Given the description of an element on the screen output the (x, y) to click on. 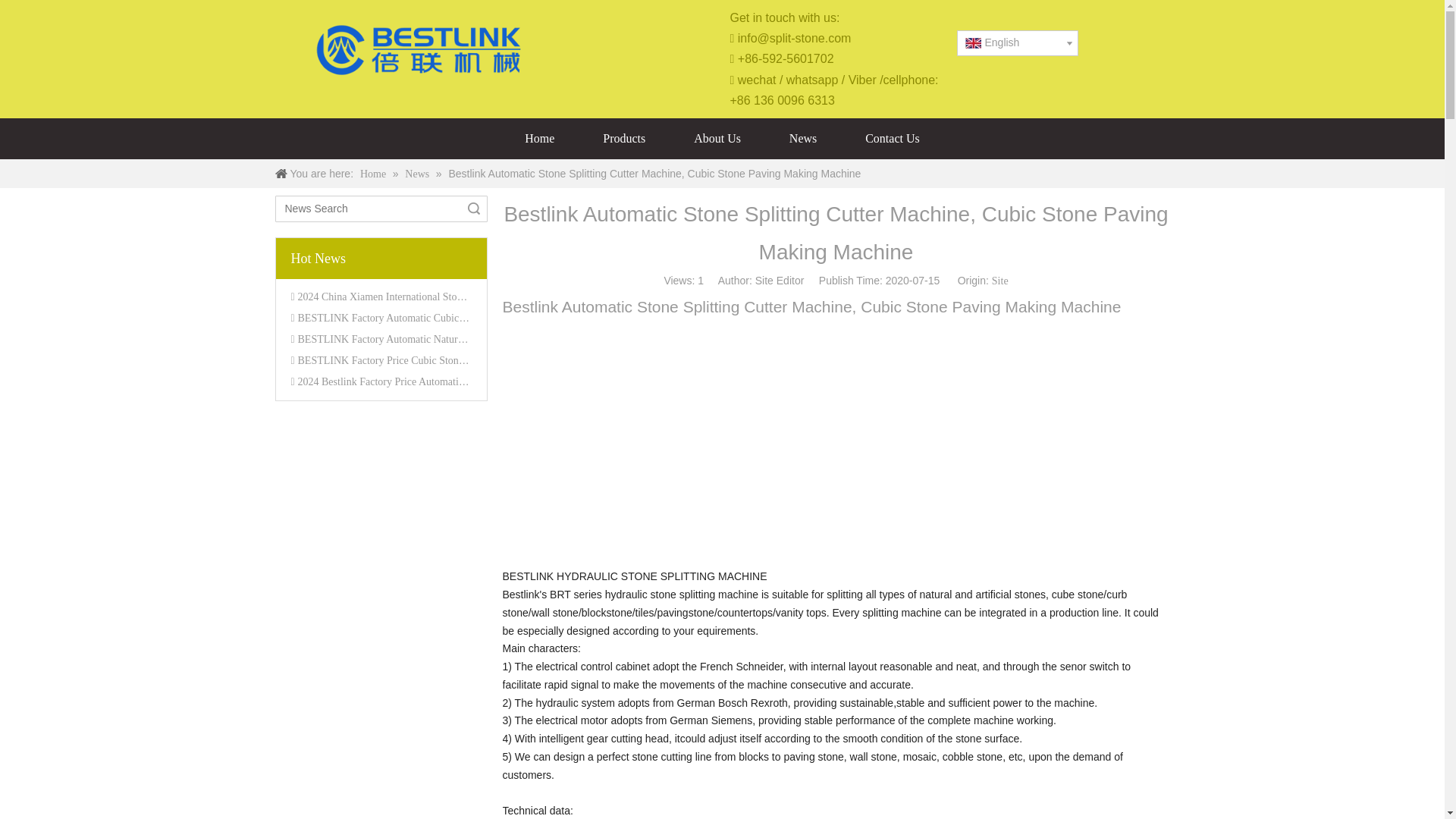
Home (373, 173)
Home (539, 137)
Products (623, 137)
Search (473, 208)
BESTLINK Factory Price Cubic Stone Splitting Machine (420, 359)
About Us (716, 137)
Contact Us (892, 137)
